Given the description of an element on the screen output the (x, y) to click on. 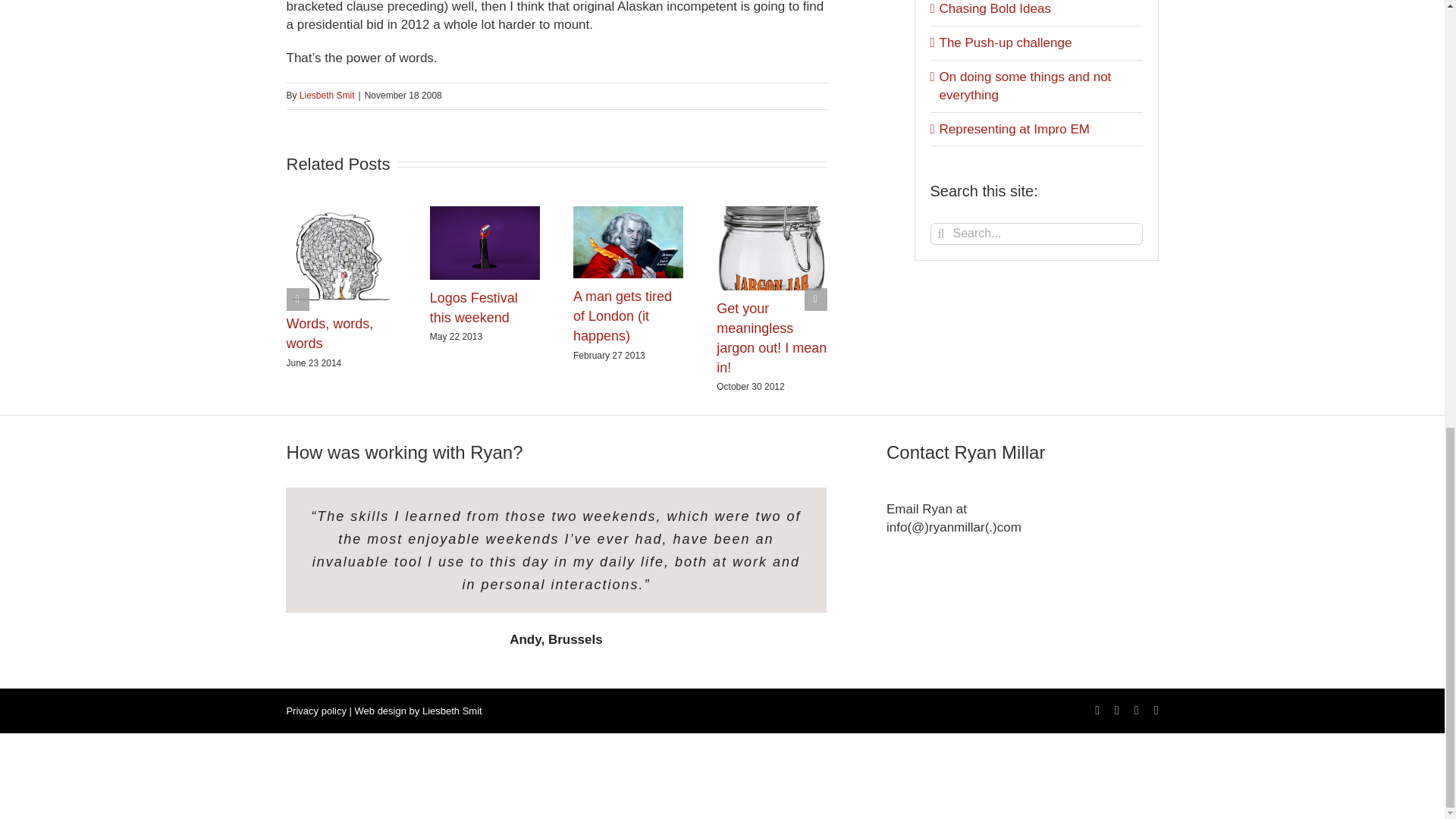
Chasing Bold Ideas (994, 8)
Posts by Liesbeth Smit (327, 95)
The Push-up challenge (1005, 42)
Logos Festival this weekend (473, 307)
Liesbeth Smit (327, 95)
Logos Festival this weekend (473, 307)
Words, words, words (330, 333)
Get your meaningless jargon out! I mean in! (771, 338)
Get your meaningless jargon out! I mean in! (771, 338)
On doing some things and not everything (1024, 85)
